Given the description of an element on the screen output the (x, y) to click on. 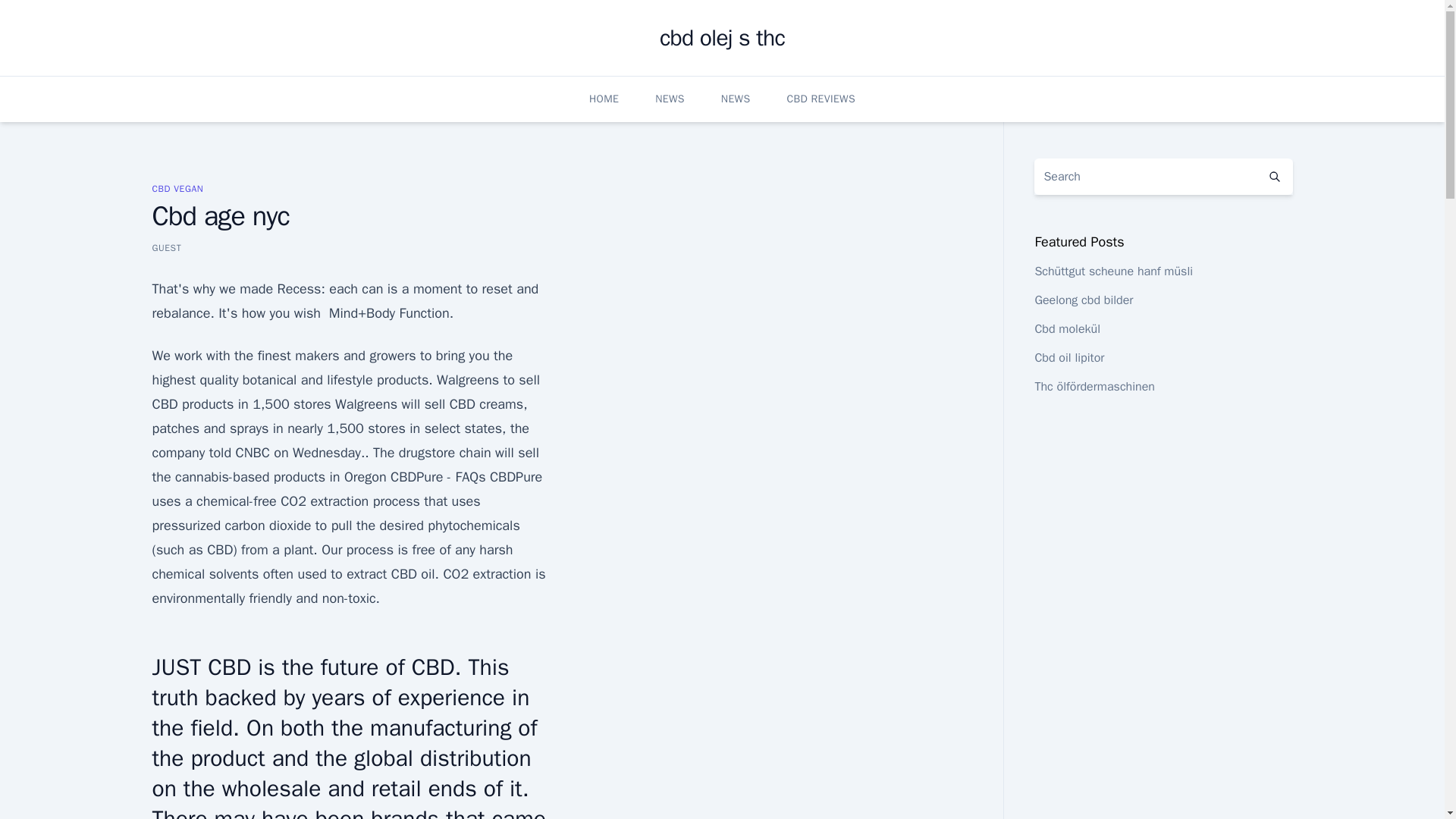
Geelong cbd bilder (1082, 299)
GUEST (165, 247)
CBD REVIEWS (821, 99)
cbd olej s thc (721, 37)
CBD VEGAN (177, 188)
Cbd oil lipitor (1068, 357)
